Given the description of an element on the screen output the (x, y) to click on. 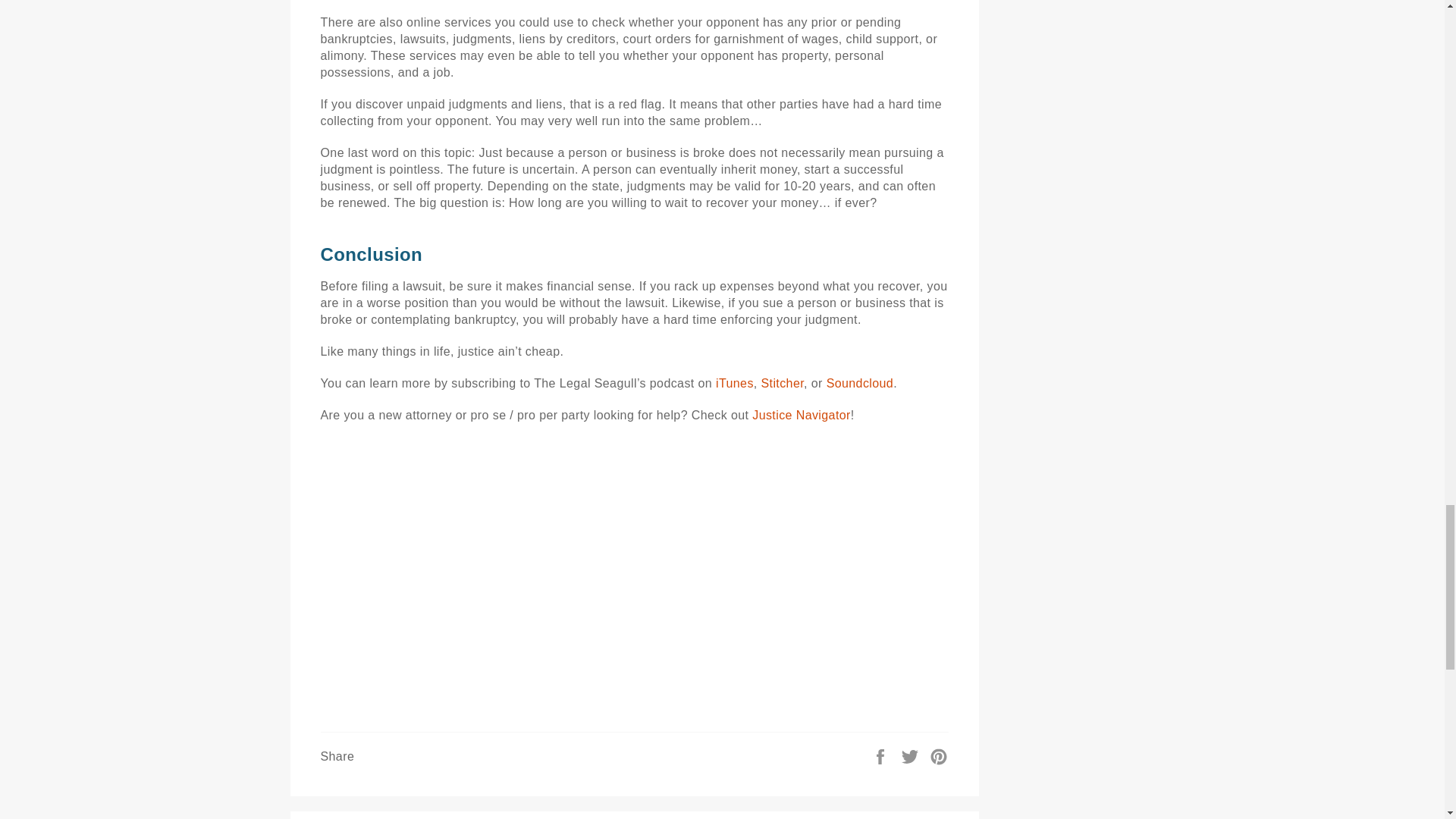
Pin on Pinterest (938, 755)
Stitcher (783, 382)
Soundcloud (860, 382)
iTunes (735, 382)
Tweet on Twitter (912, 755)
Tweet on Twitter (912, 755)
Share on Facebook (881, 755)
Justice Navigator (801, 414)
Share on Facebook (881, 755)
Pin on Pinterest (938, 755)
